Given the description of an element on the screen output the (x, y) to click on. 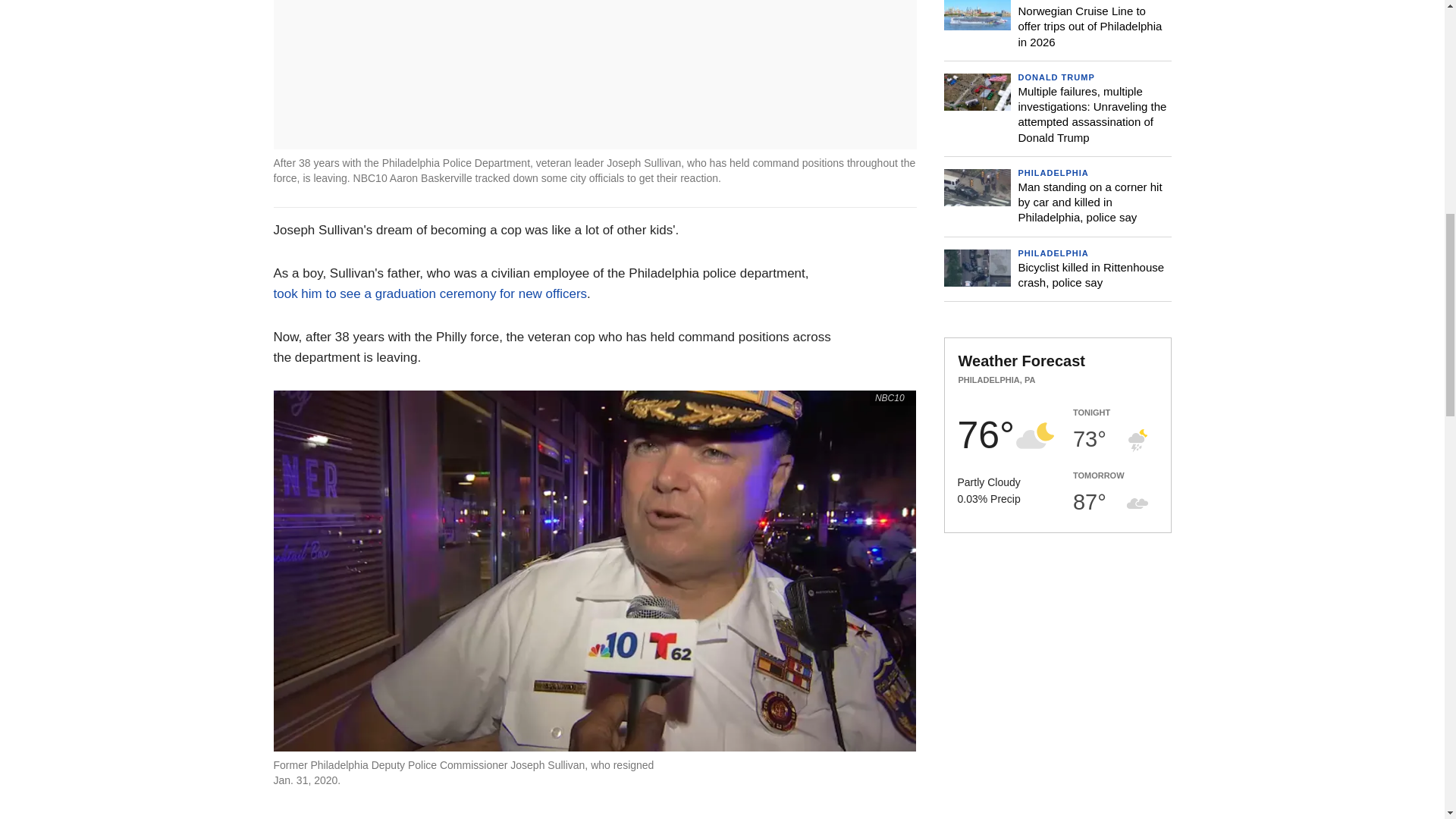
took him to see a graduation ceremony for new officers (429, 293)
